Given the description of an element on the screen output the (x, y) to click on. 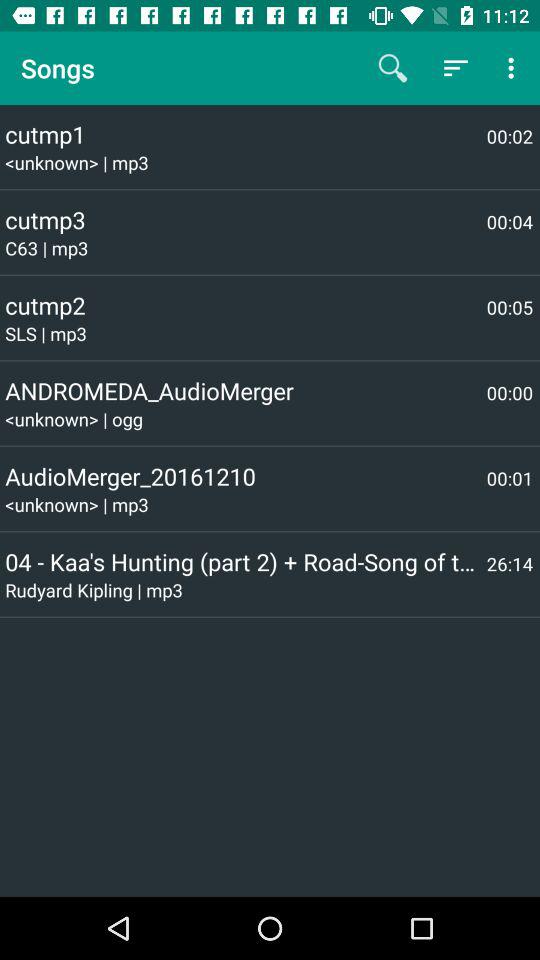
click the icon next to songs item (392, 67)
